Given the description of an element on the screen output the (x, y) to click on. 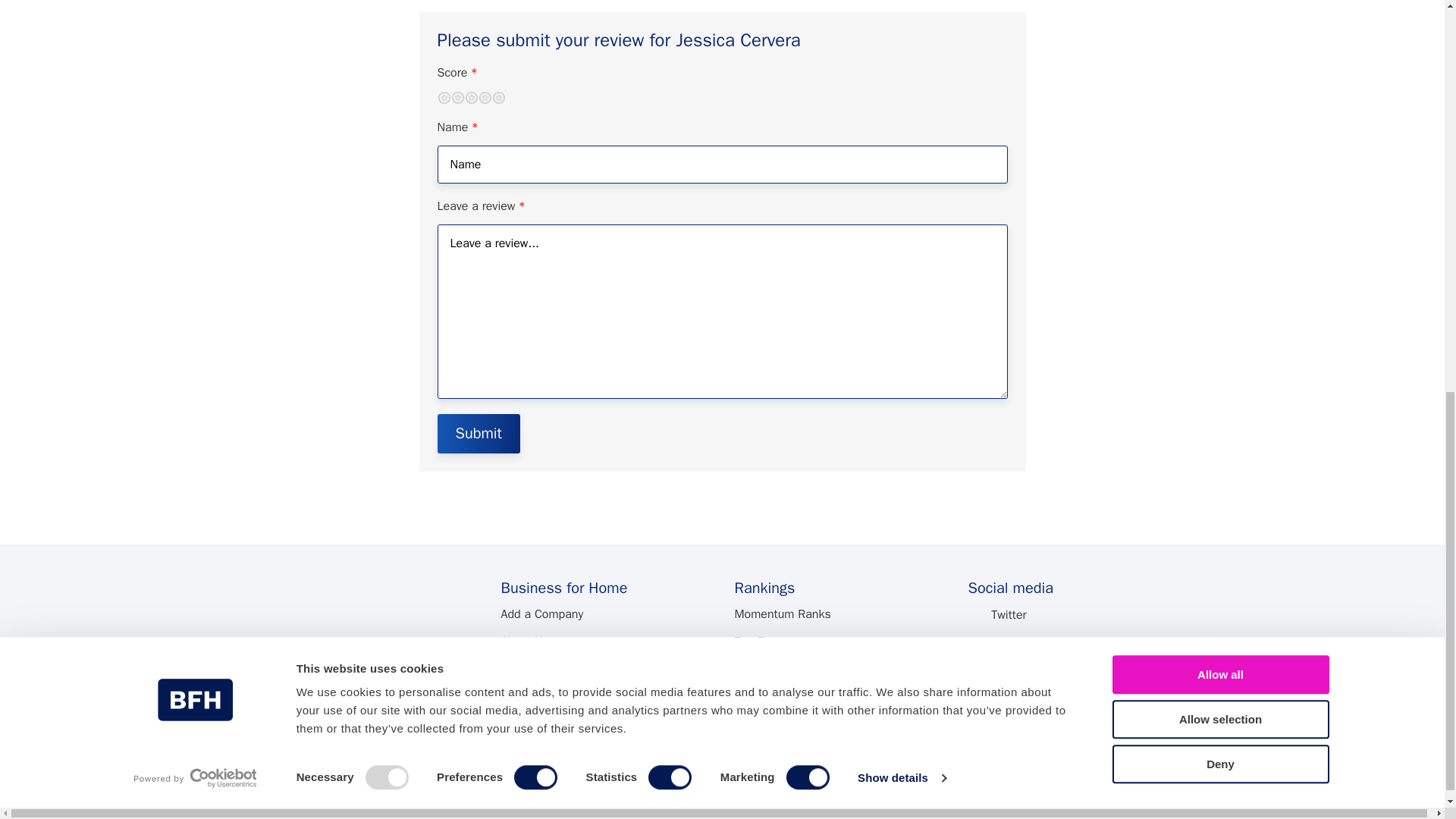
Show details (900, 7)
5 (498, 97)
4 (484, 97)
3 (470, 97)
grating2625ef255 (441, 95)
2 (456, 97)
grating2ee77085c (441, 95)
grating25e7fe7c5 (441, 95)
grating2cf06e2c4 (441, 95)
grating231b0a2b2 (441, 95)
1 (442, 97)
